Given the description of an element on the screen output the (x, y) to click on. 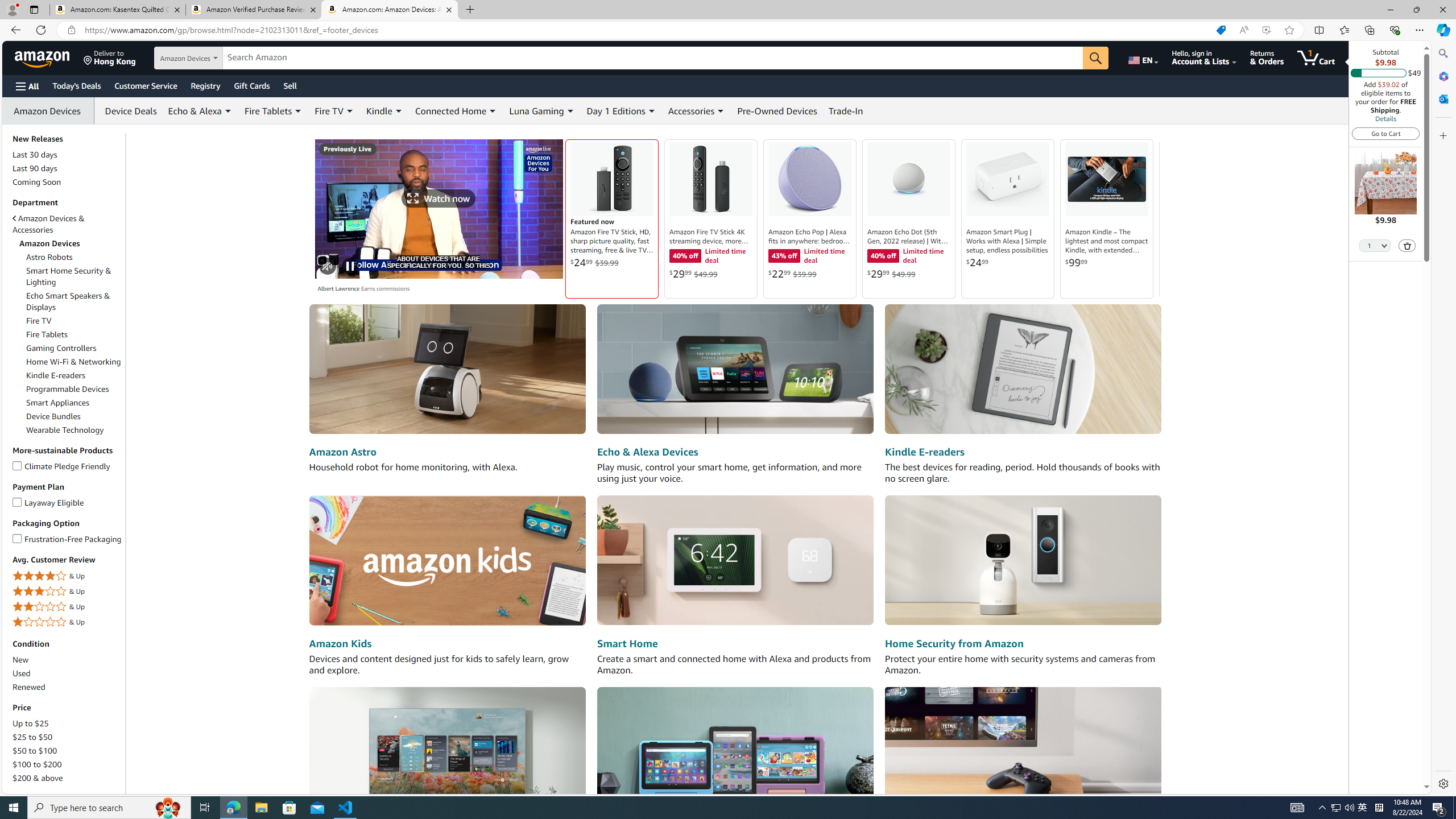
$50 to $100 (34, 750)
Fire Tablets (46, 334)
Day 1 Editions (621, 110)
Gaming Controllers (61, 347)
Climate Pledge FriendlyClimate Pledge Friendly (67, 465)
Amazon Devices (67, 242)
Today's Deals (76, 85)
$25 to $50 (32, 737)
Last 90 days (67, 167)
Echo Smart Speakers & Displays (68, 301)
Delete (1407, 245)
